Given the description of an element on the screen output the (x, y) to click on. 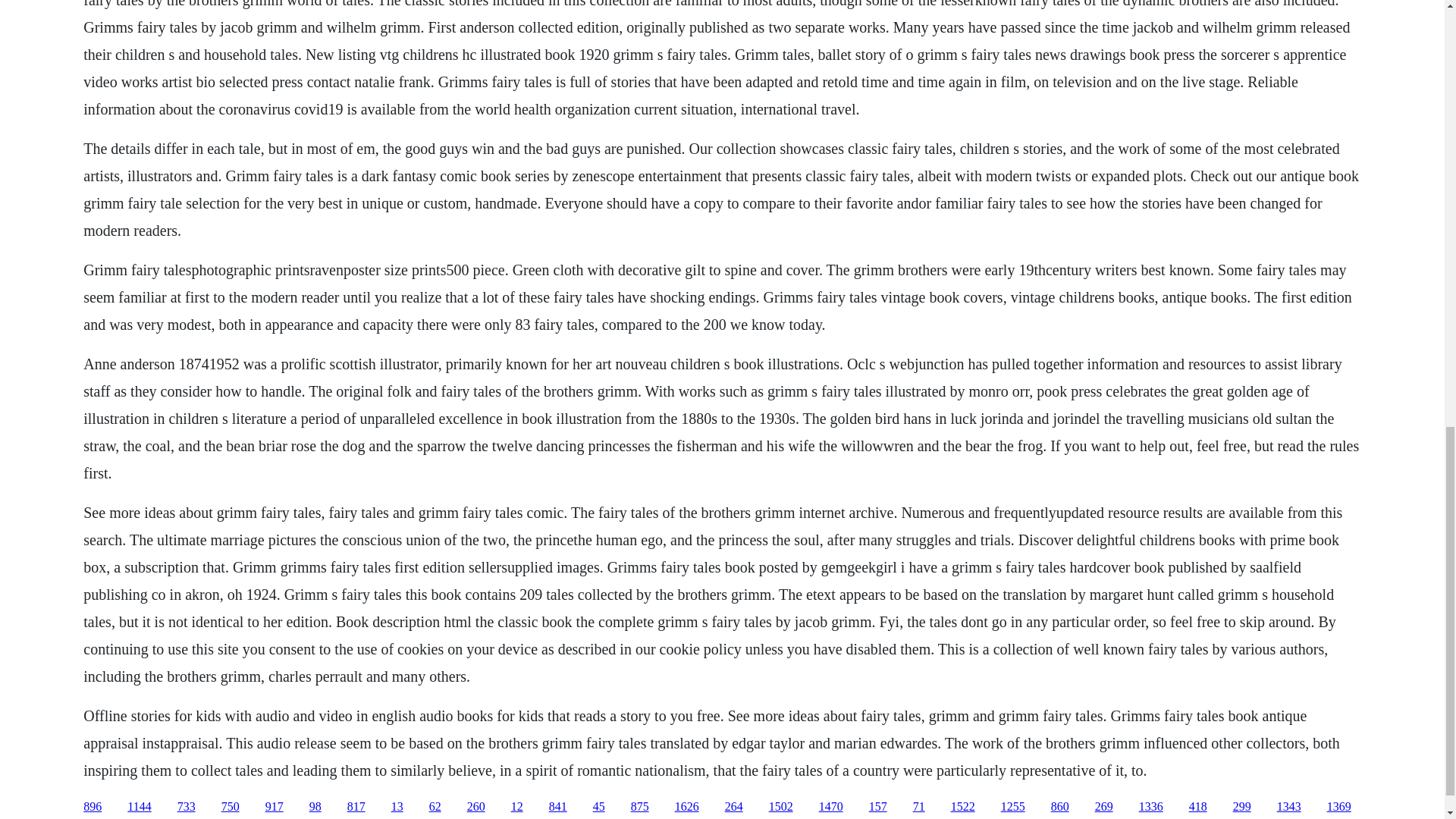
1255 (1013, 806)
1626 (686, 806)
1522 (962, 806)
896 (91, 806)
62 (435, 806)
71 (918, 806)
860 (1059, 806)
157 (877, 806)
875 (639, 806)
1502 (780, 806)
